Given the description of an element on the screen output the (x, y) to click on. 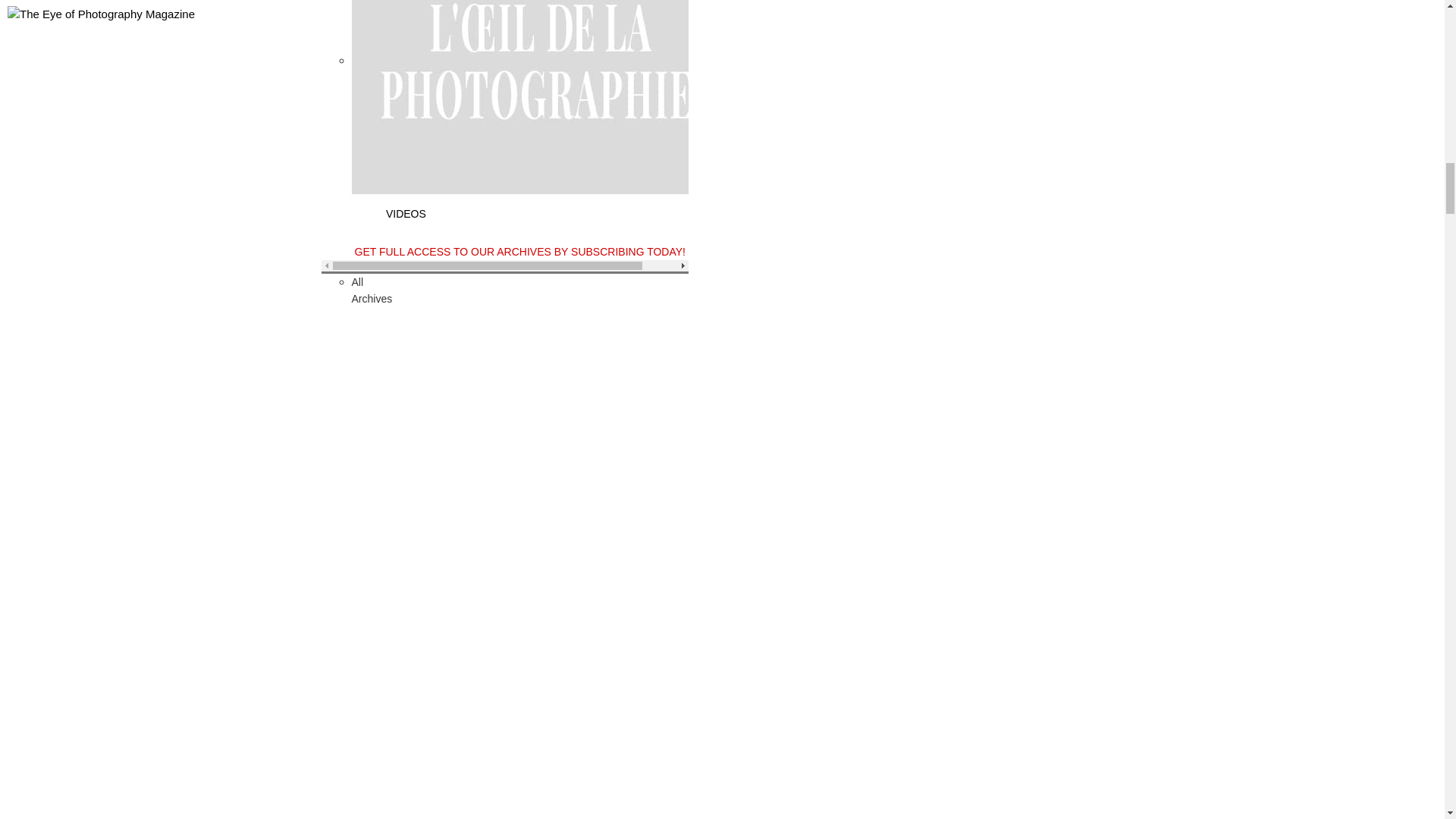
Videos (541, 60)
